Given the description of an element on the screen output the (x, y) to click on. 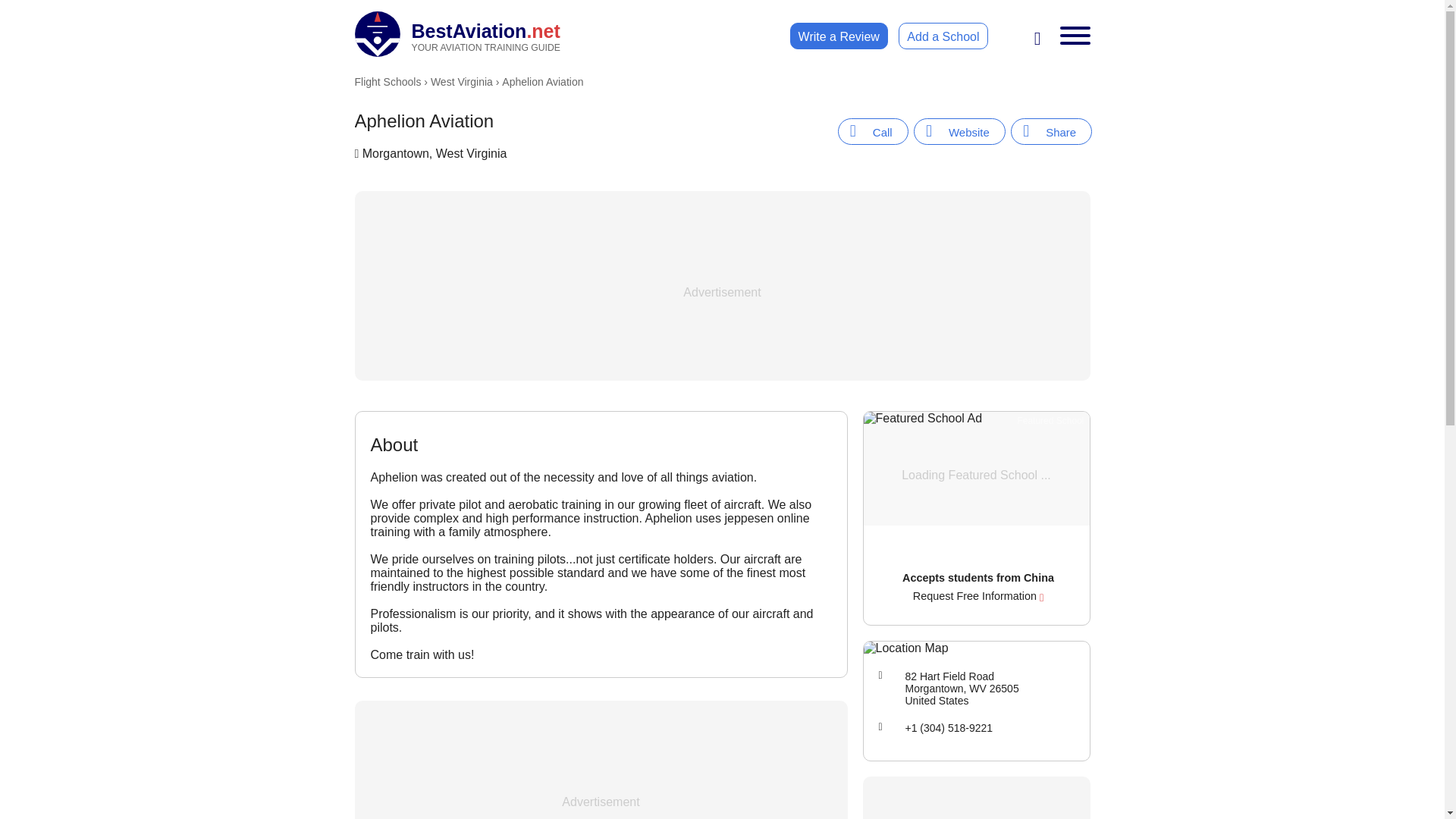
Share (1051, 130)
Best Aviation Schools (457, 32)
Review an aviation school (839, 35)
Website (457, 32)
Add a School (960, 130)
West Virginia (942, 35)
Flight Schools (461, 81)
Aphelion Aviation (388, 81)
Call (1051, 130)
Write a Review (873, 130)
Add your aviation school (839, 35)
Visit website (942, 35)
